Given the description of an element on the screen output the (x, y) to click on. 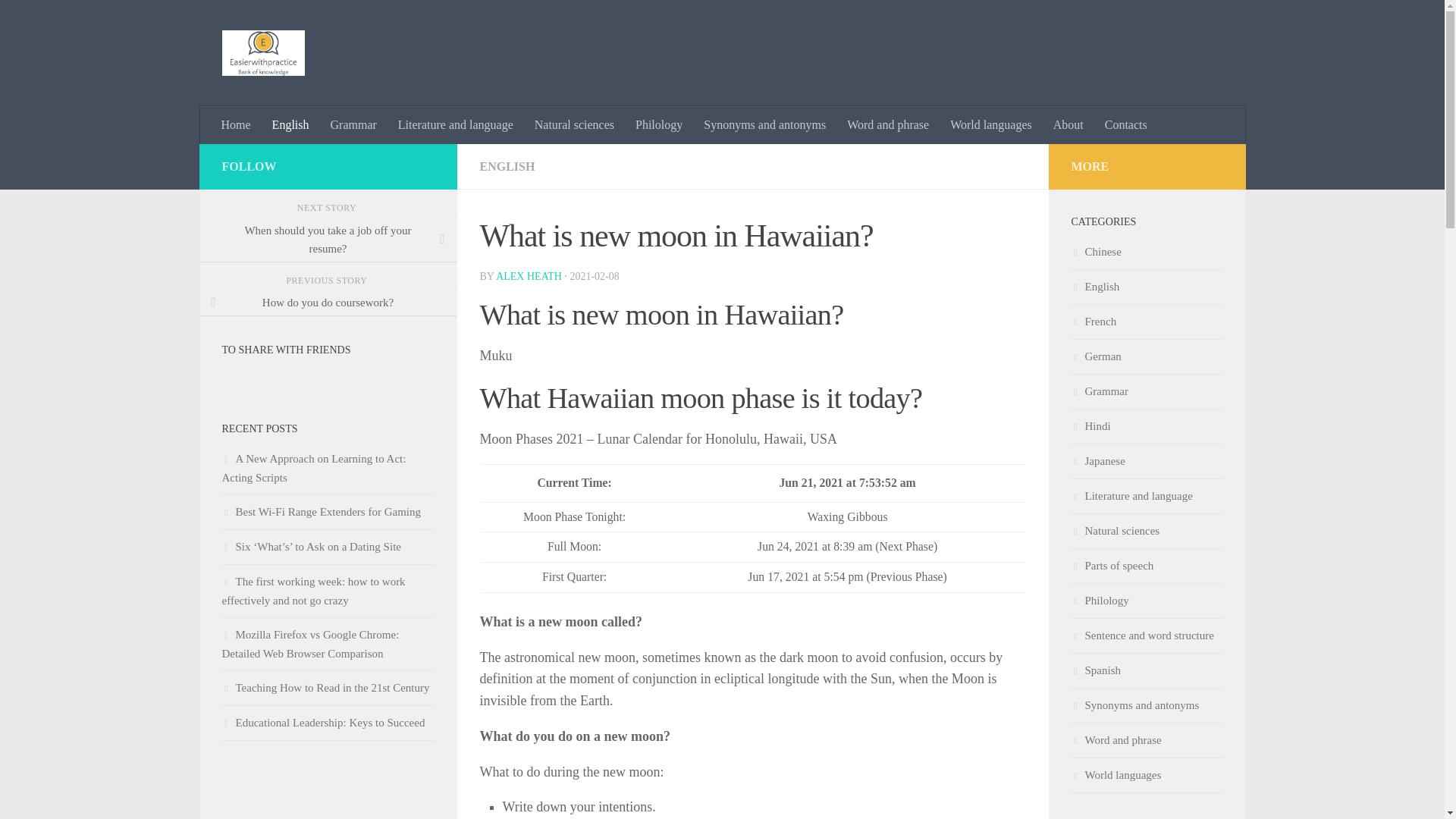
Skip to content (59, 20)
Natural sciences (574, 125)
English (291, 125)
Literature and language (455, 125)
Grammar (353, 125)
Posts by Alex Heath (529, 276)
About (1068, 125)
ENGLISH (506, 165)
When should you take a job off your resume? (327, 239)
Synonyms and antonyms (764, 125)
Philology (658, 125)
Home (236, 125)
ALEX HEATH (529, 276)
World languages (990, 125)
Word and phrase (887, 125)
